Given the description of an element on the screen output the (x, y) to click on. 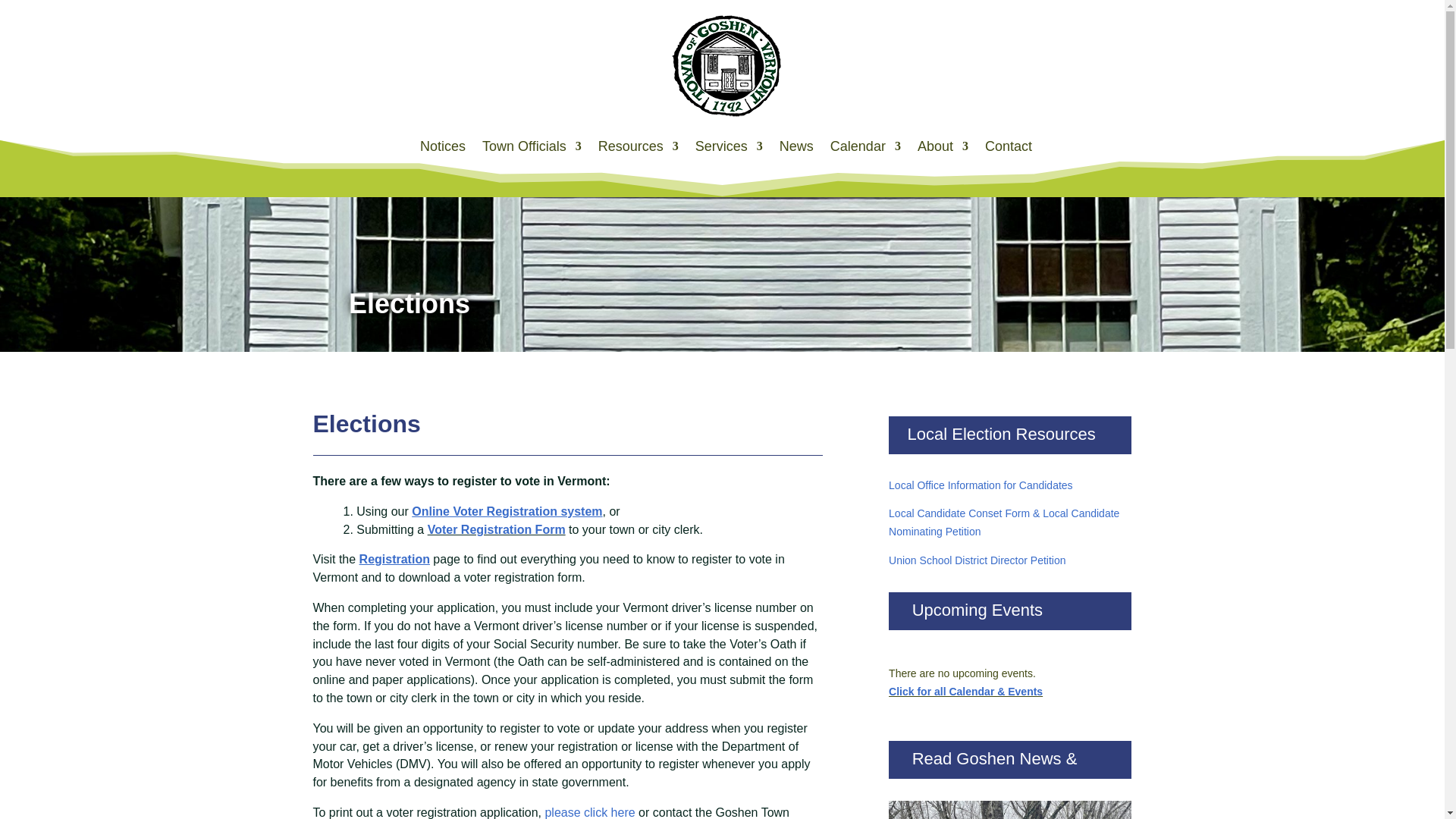
Services (728, 146)
Resources (638, 146)
Calendar (865, 146)
Town Officials (530, 146)
